Given the description of an element on the screen output the (x, y) to click on. 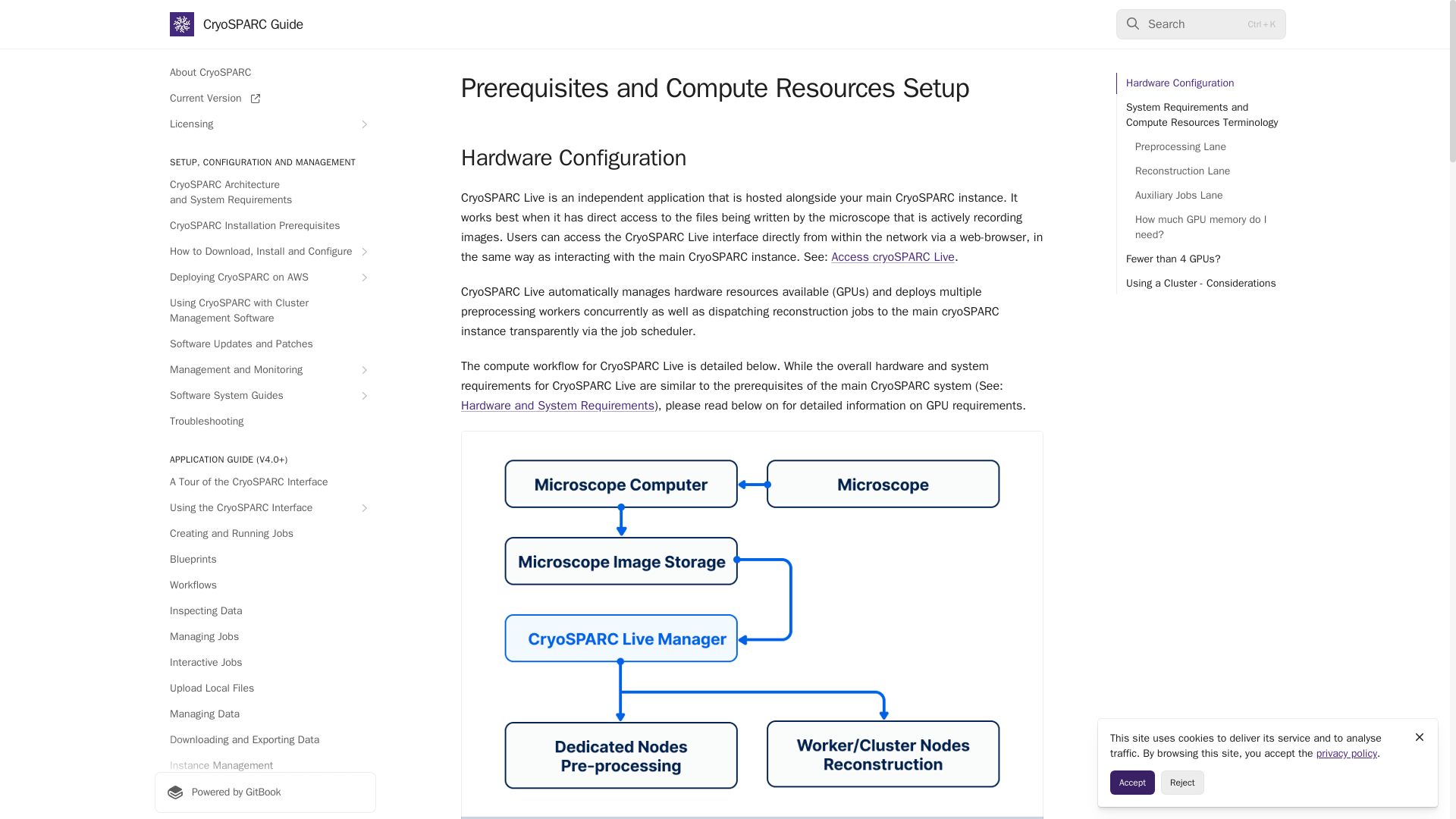
About CryoSPARC (264, 72)
CryoSPARC Architecture and System Requirements (264, 192)
How to Download, Install and Configure (264, 251)
Close (1419, 737)
Management and Monitoring (264, 369)
Using CryoSPARC with Cluster Management Software (264, 310)
Current Version (264, 98)
Software Updates and Patches (264, 344)
Licensing (264, 124)
Deploying CryoSPARC on AWS (264, 277)
